Given the description of an element on the screen output the (x, y) to click on. 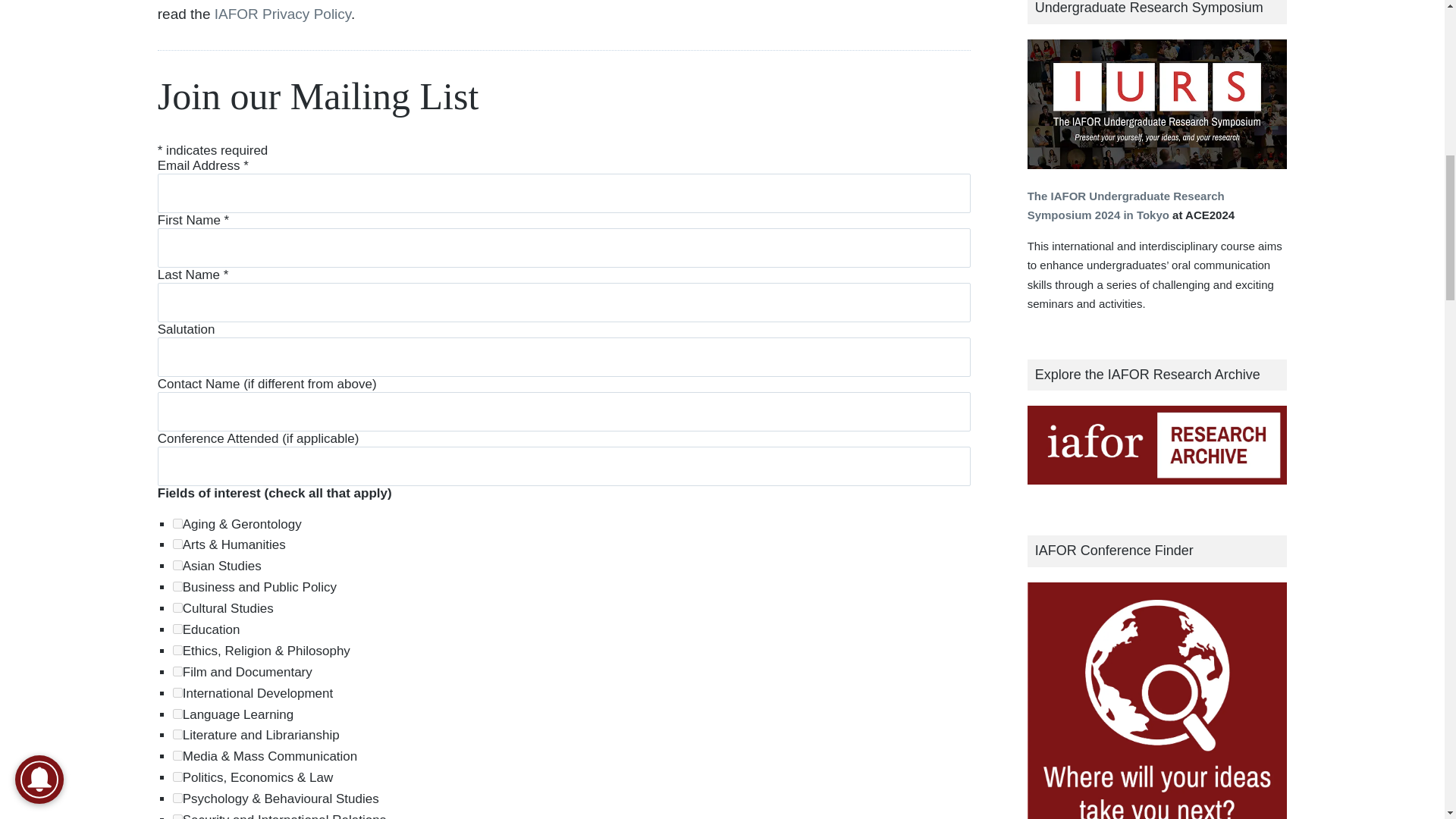
1 (178, 543)
32 (178, 650)
1024 (178, 777)
2048 (178, 798)
512 (178, 755)
4 (178, 586)
2 (178, 565)
256 (178, 734)
524288 (178, 523)
128 (178, 714)
16 (178, 628)
64 (178, 671)
65536 (178, 692)
8 (178, 607)
